Given the description of an element on the screen output the (x, y) to click on. 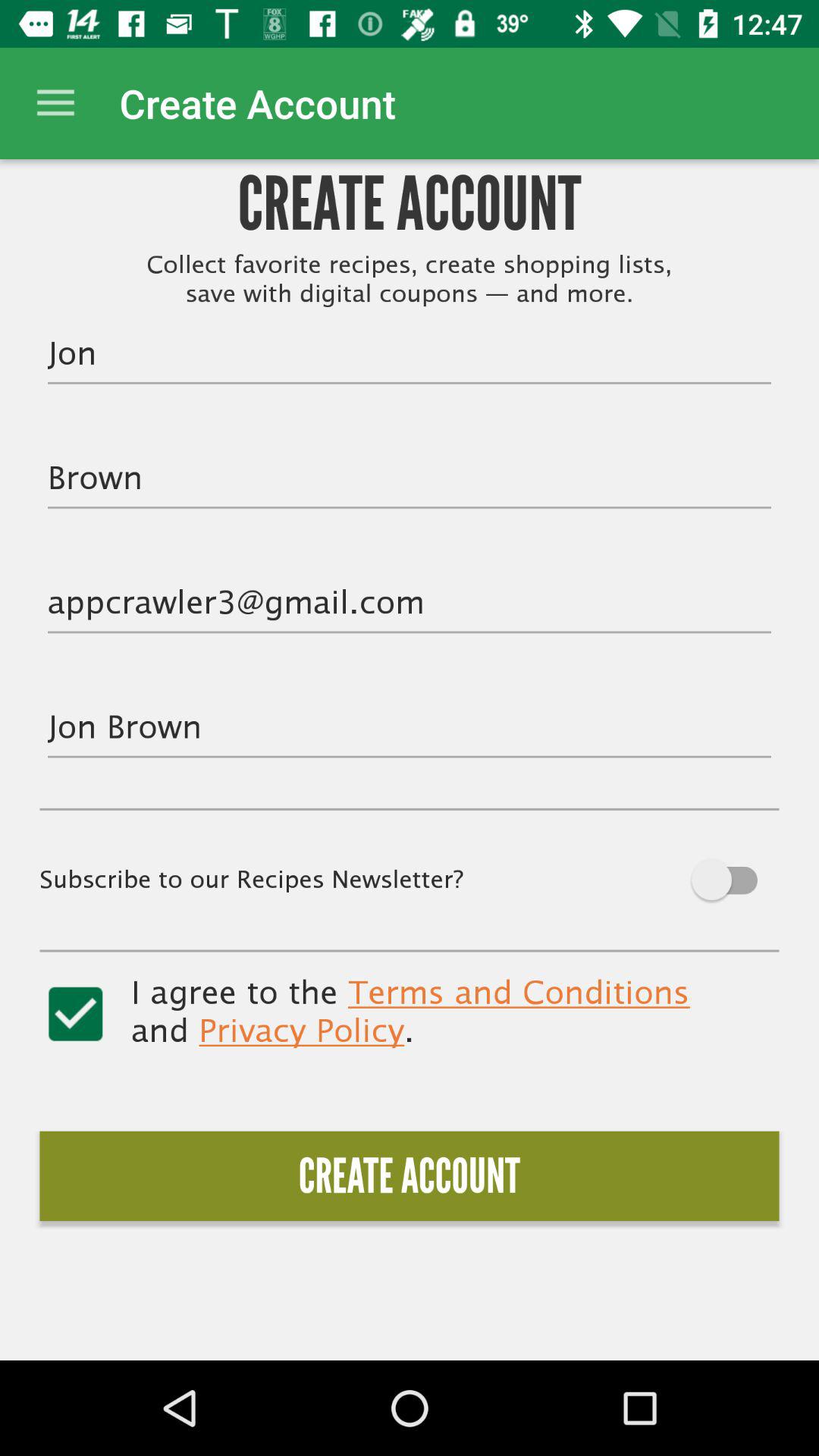
check to agree to the terms and conditions and privacy policy (75, 1013)
